Given the description of an element on the screen output the (x, y) to click on. 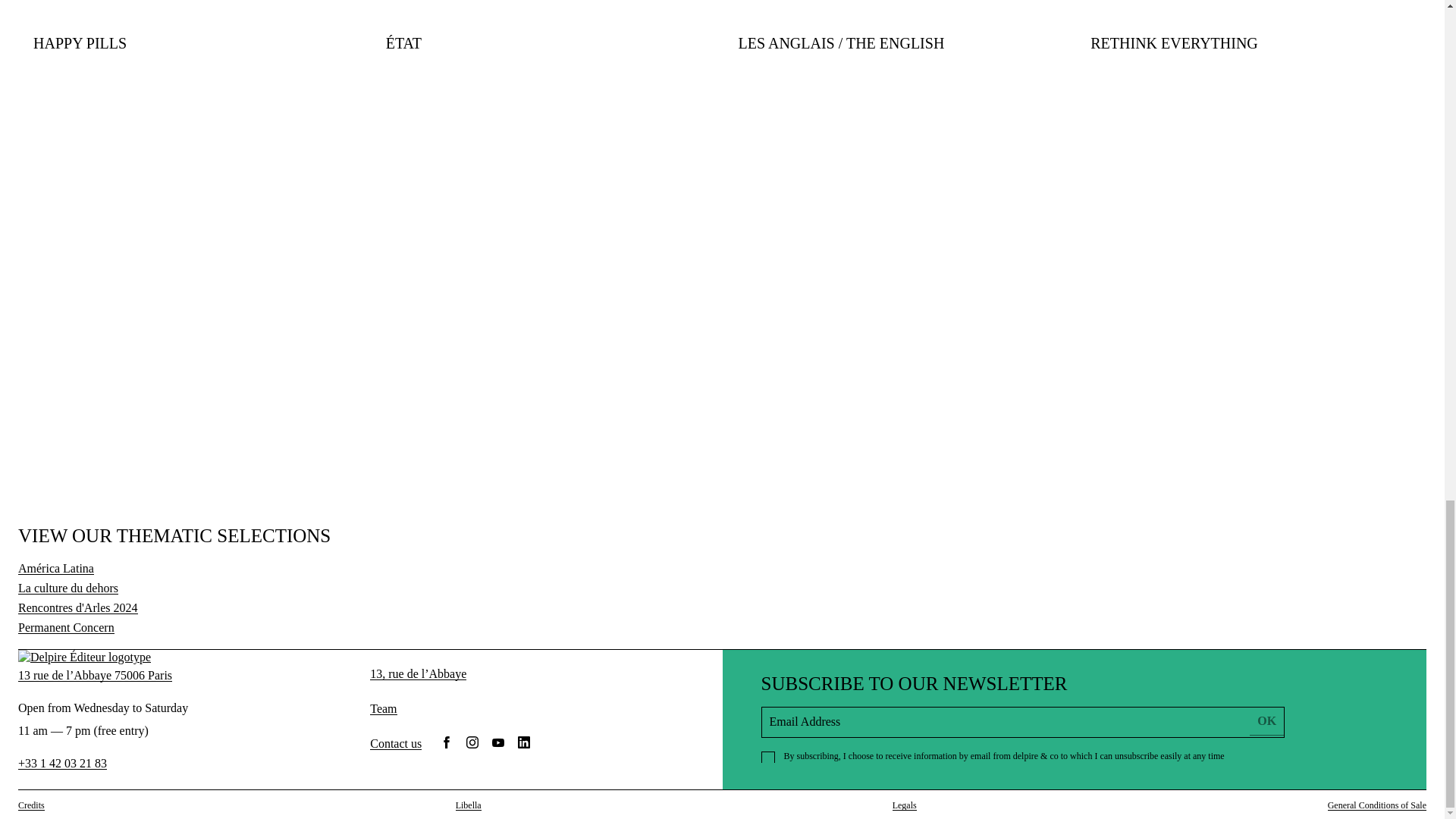
La culture du dehors (67, 587)
Team (382, 707)
ok (1266, 720)
Permanent Concern (66, 626)
Rencontres d'Arles 2024 (77, 607)
Contact us (395, 741)
